Given the description of an element on the screen output the (x, y) to click on. 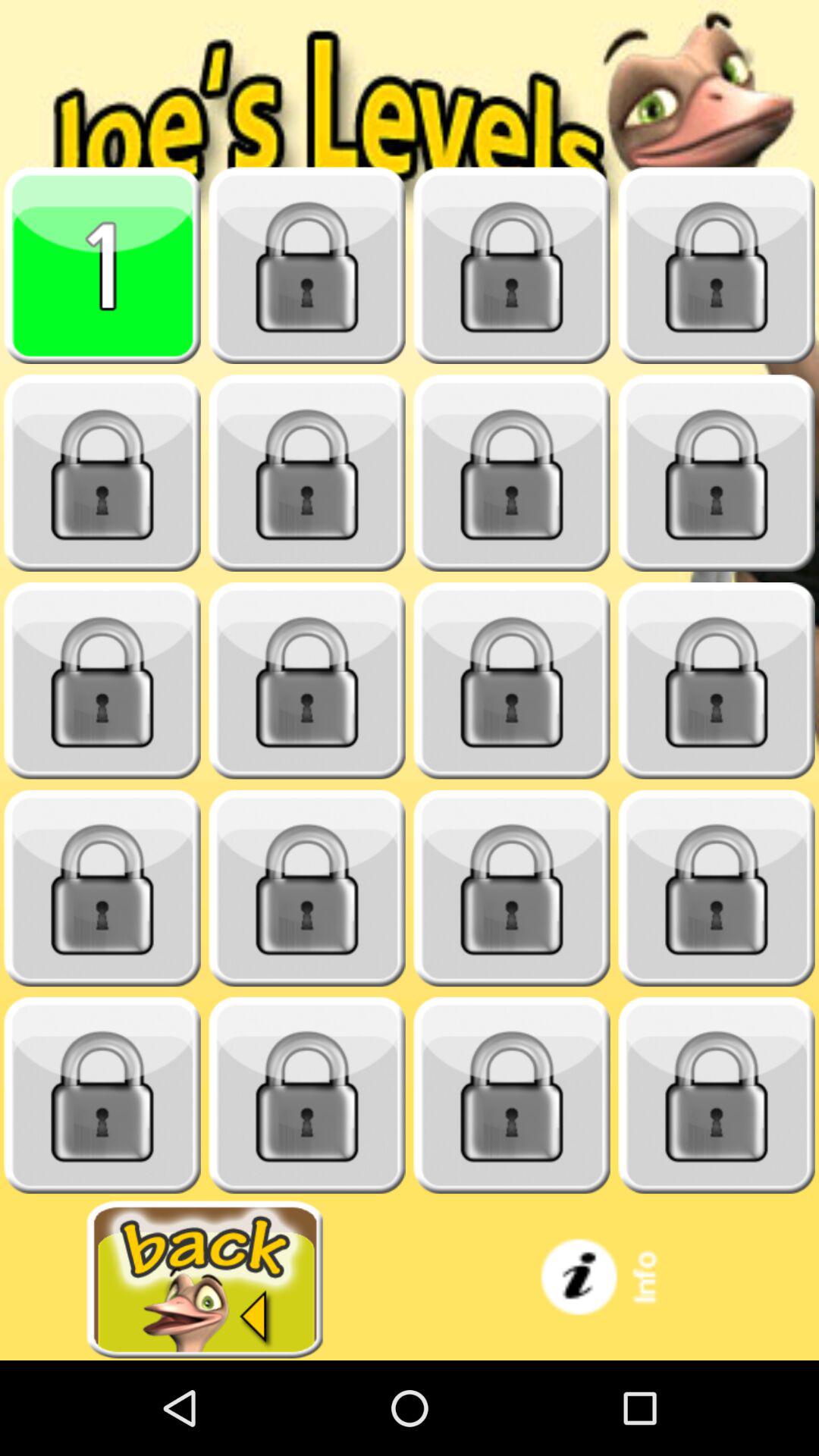
locked level (716, 1094)
